Given the description of an element on the screen output the (x, y) to click on. 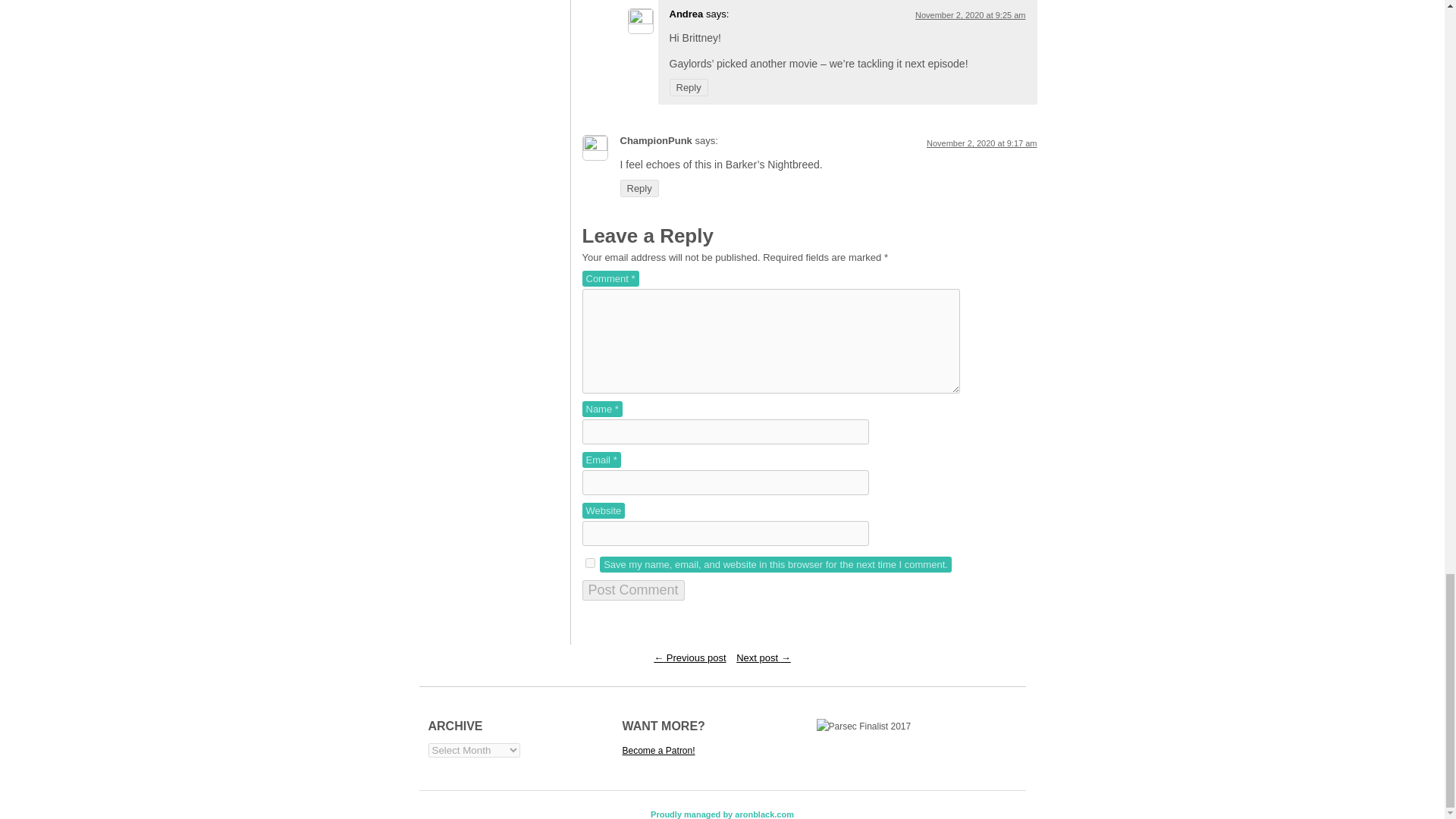
yes (590, 562)
Post Comment (633, 589)
November 2, 2020 at 9:17 am (981, 143)
Reply (639, 188)
November 2, 2020 at 9:25 am (970, 14)
Reply (687, 87)
